Given the description of an element on the screen output the (x, y) to click on. 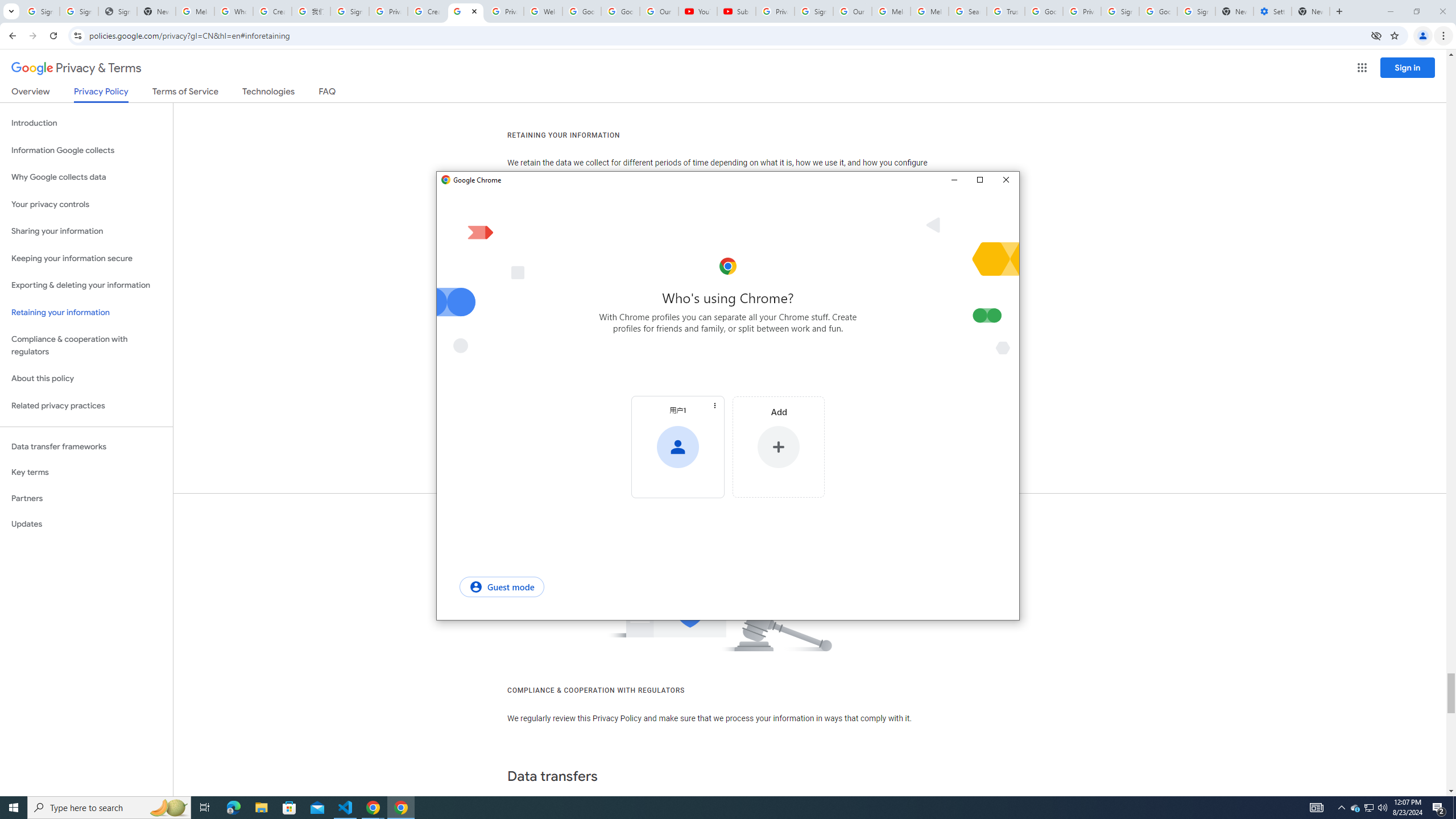
Search highlights icon opens search home window (167, 807)
Sharing your information (86, 230)
Maximize (979, 180)
Related privacy practices (86, 405)
Microsoft Edge (233, 807)
Task View (204, 807)
Sign in - Google Accounts (79, 11)
User Promoted Notification Area (1368, 807)
New Tab (1311, 11)
Subscriptions - YouTube (736, 11)
